Given the description of an element on the screen output the (x, y) to click on. 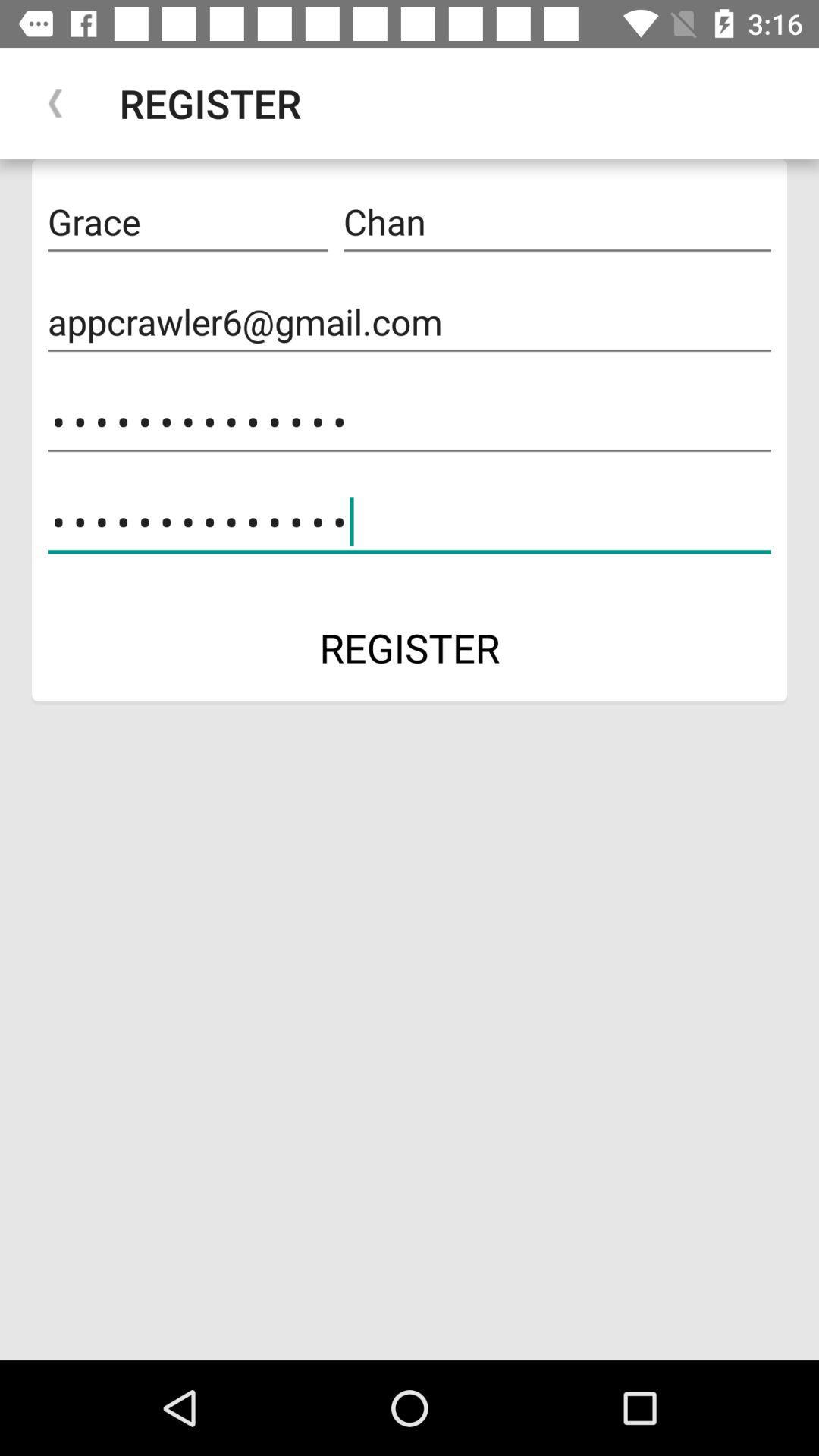
launch the icon to the left of register item (55, 103)
